Given the description of an element on the screen output the (x, y) to click on. 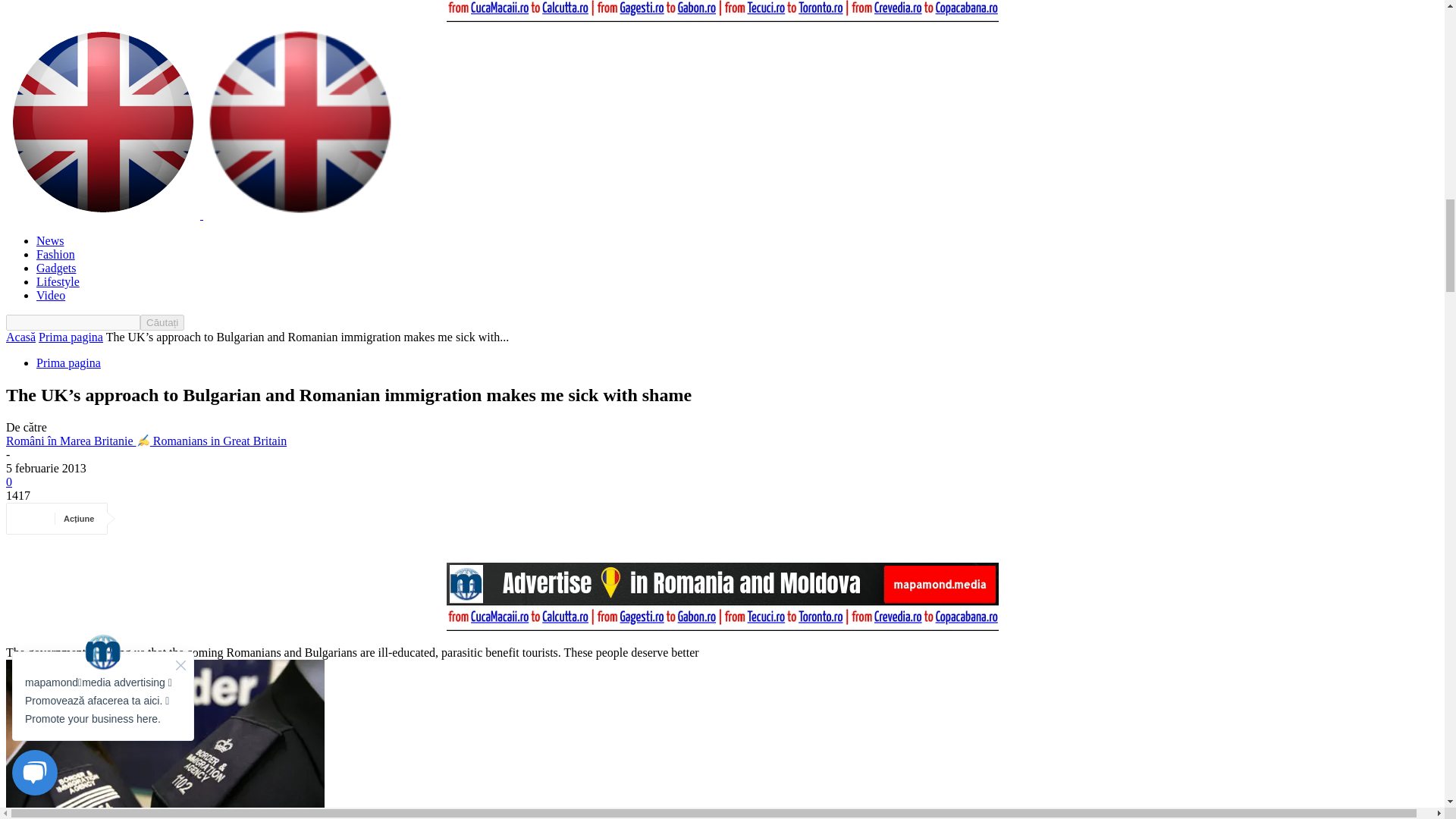
News (50, 240)
Fashion (55, 254)
